Given the description of an element on the screen output the (x, y) to click on. 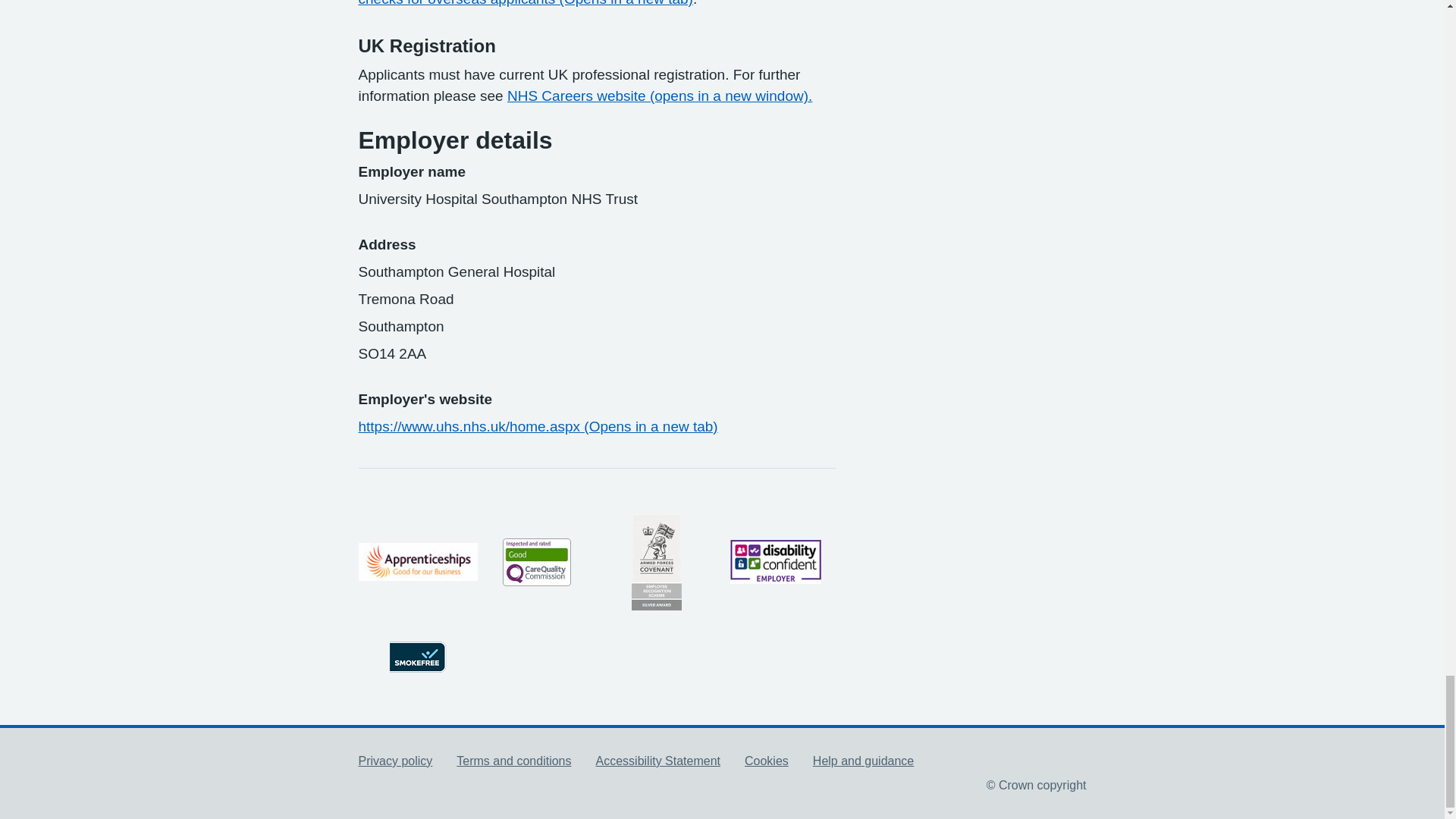
Cookies (766, 760)
Privacy policy (395, 760)
Accessibility Statement (657, 760)
Terms and conditions (513, 760)
Help and guidance (863, 760)
